Given the description of an element on the screen output the (x, y) to click on. 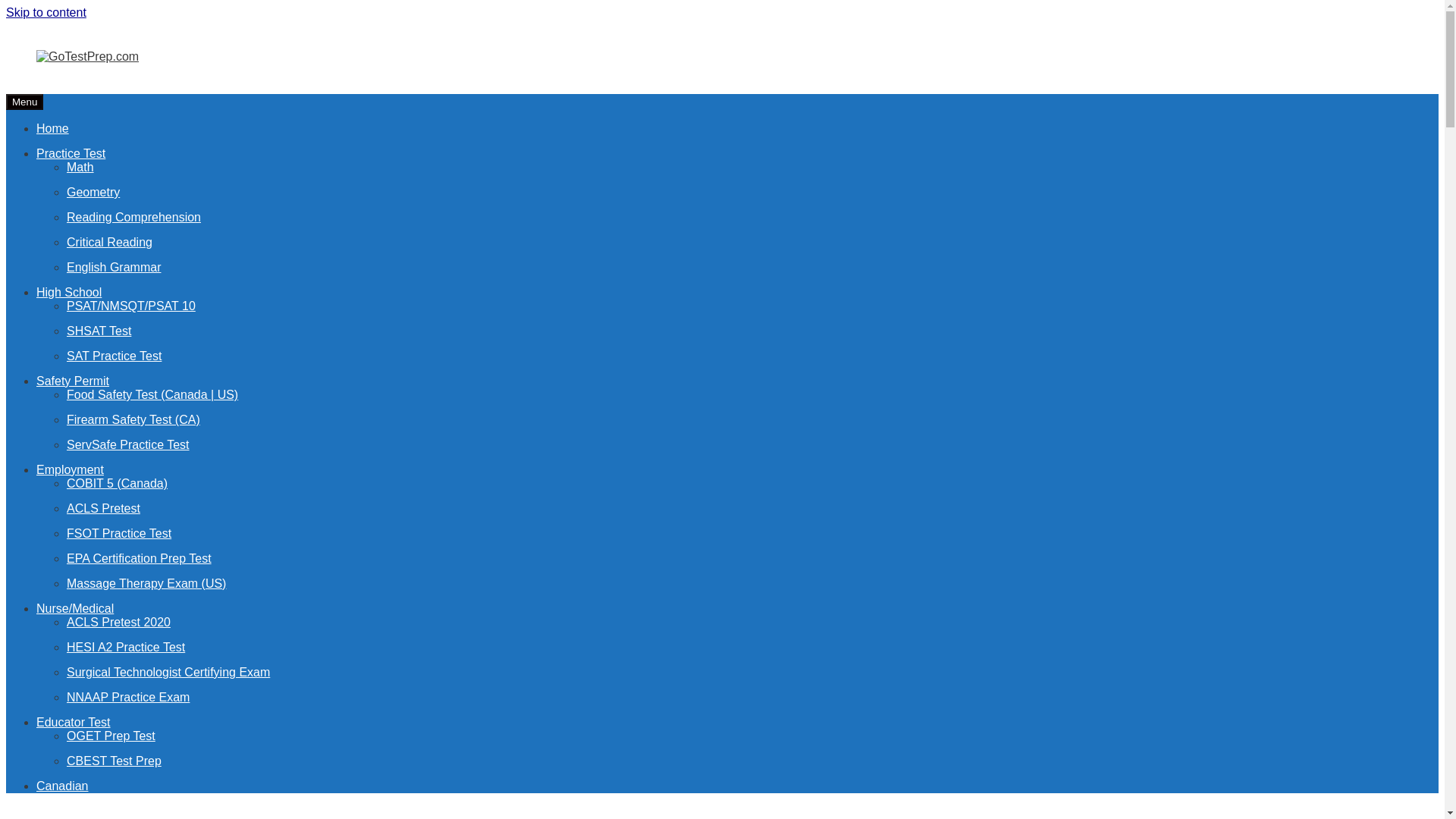
Skip to content (45, 11)
High School (68, 291)
Canadian (62, 785)
Home (52, 128)
CBEST Test Prep (113, 760)
ServSafe Practice Test (127, 444)
Menu (24, 101)
Surgical Technologist Certifying Exam (167, 671)
SHSAT Test (98, 330)
Geometry (92, 192)
